Given the description of an element on the screen output the (x, y) to click on. 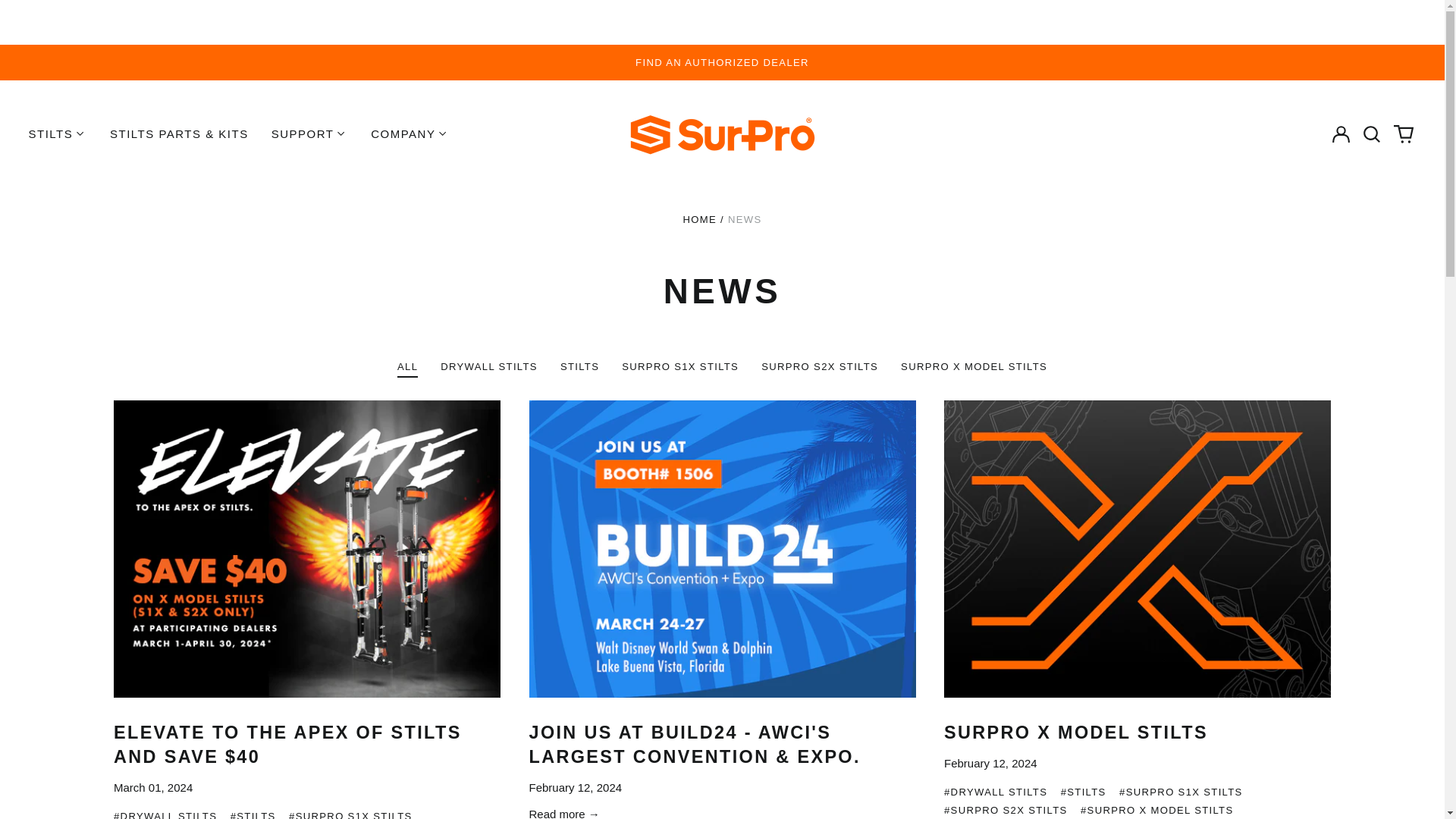
Home (699, 219)
STILTS (56, 134)
